Given the description of an element on the screen output the (x, y) to click on. 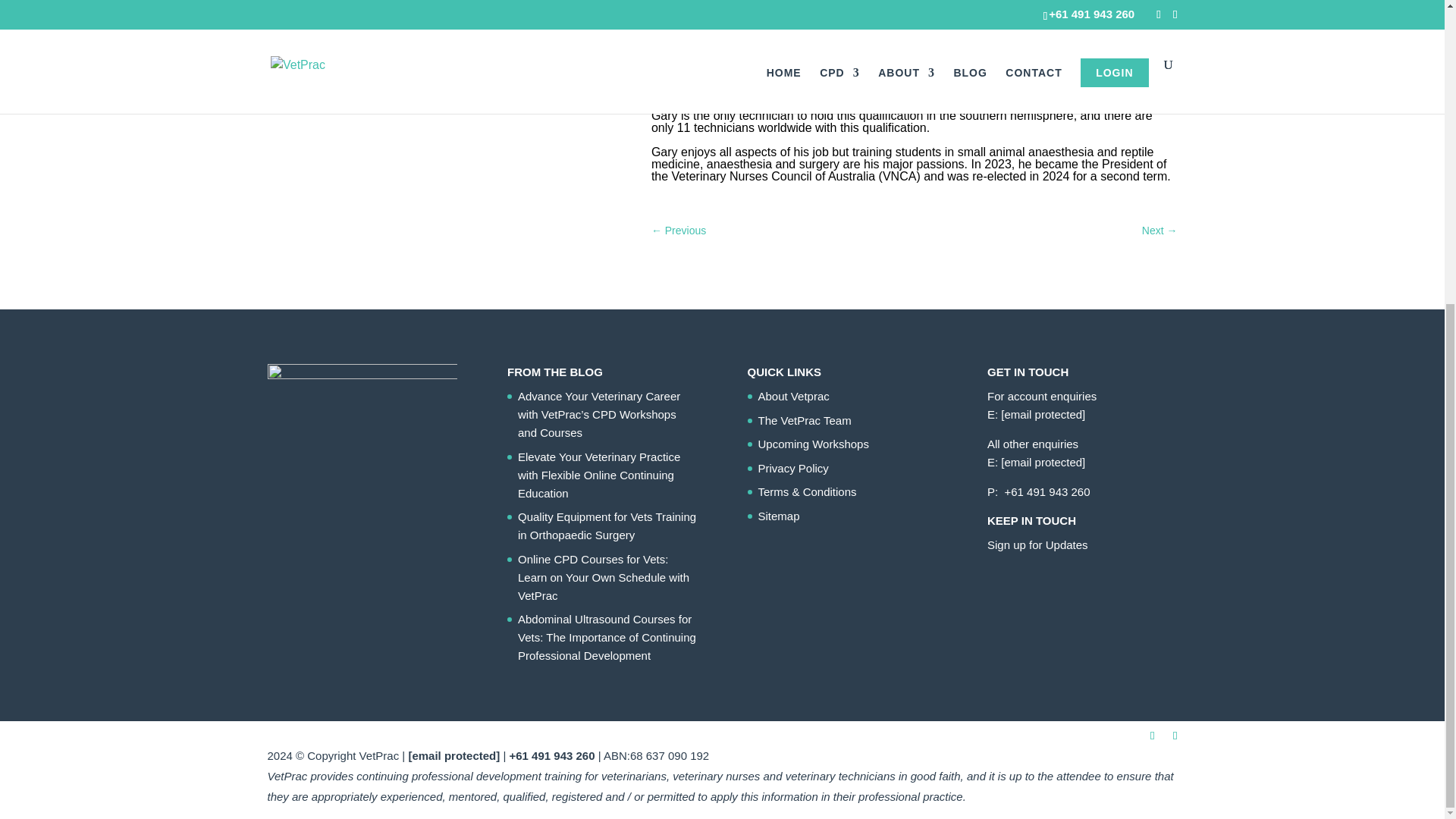
Sitemap (778, 515)
About Vetprac (793, 395)
Upcoming Workshops (813, 443)
Quality Equipment for Vets Training in Orthopaedic Surgery (606, 525)
Sign up for Updates (1037, 544)
The VetPrac Team (804, 420)
Privacy Policy (793, 468)
